Given the description of an element on the screen output the (x, y) to click on. 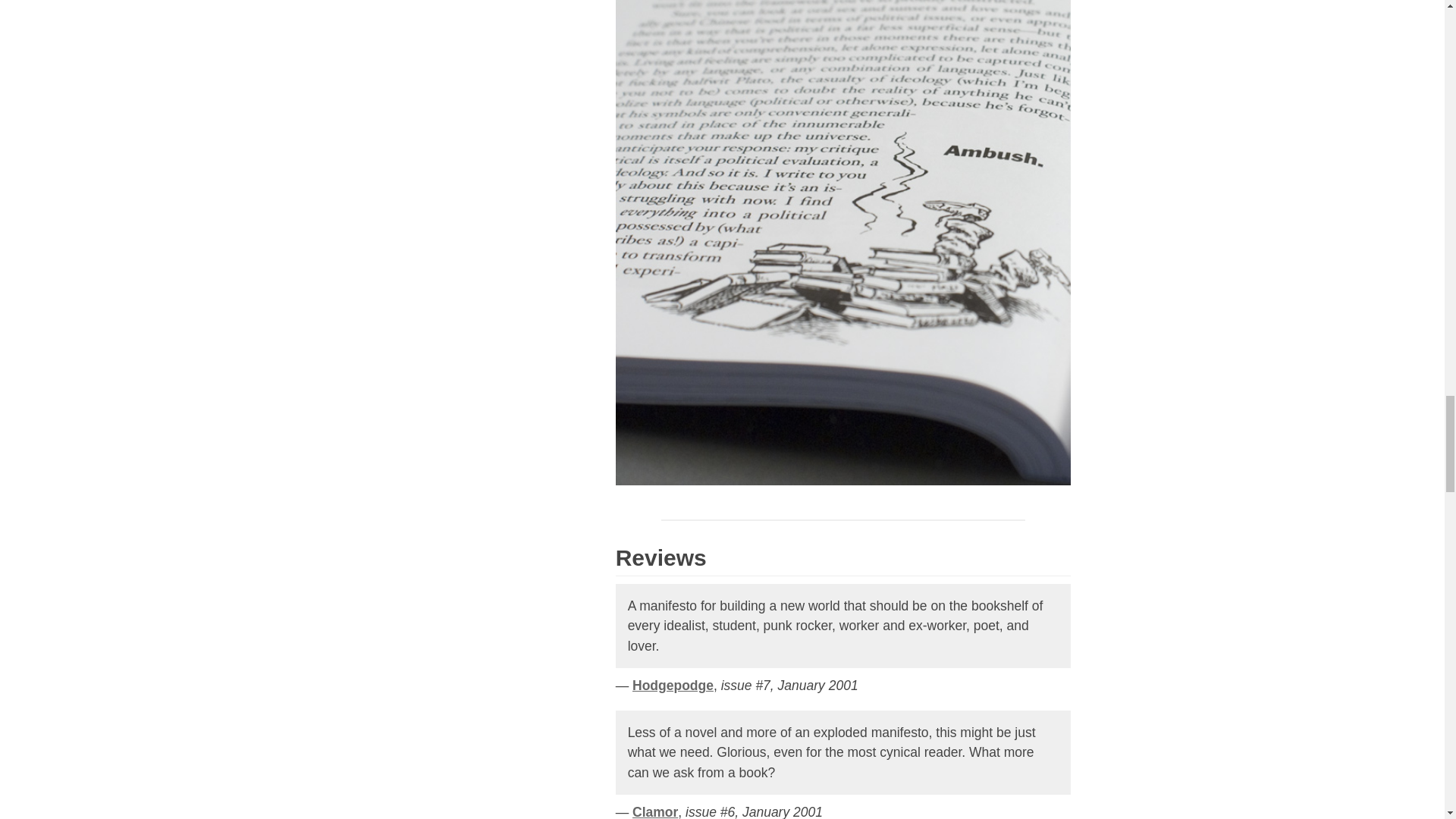
Clamor (654, 811)
Hodgepodge (672, 685)
